Given the description of an element on the screen output the (x, y) to click on. 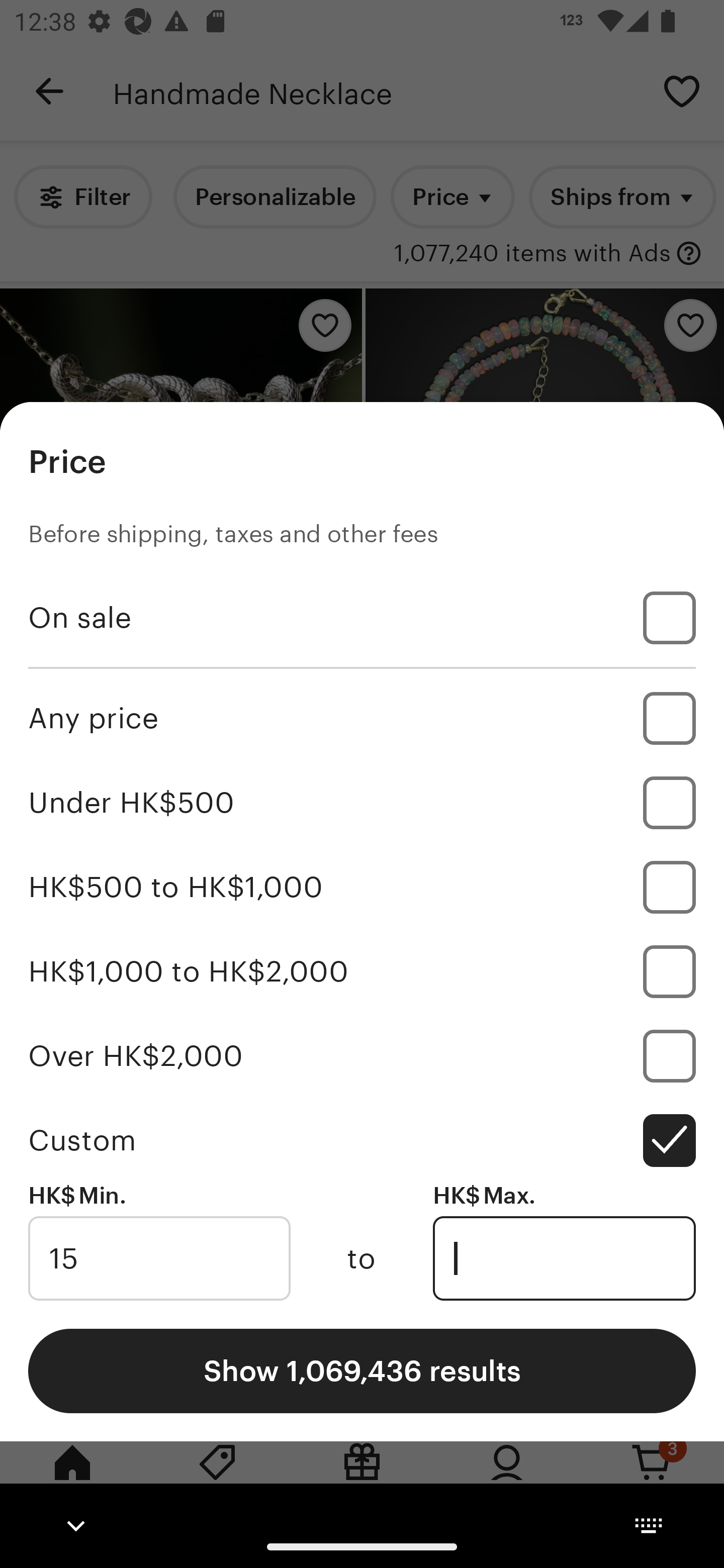
On sale (362, 617)
Any price (362, 717)
Under HK$500 (362, 802)
HK$500 to HK$1,000 (362, 887)
HK$1,000 to HK$2,000 (362, 970)
Over HK$2,000 (362, 1054)
Custom (362, 1139)
15 (159, 1257)
Show 1,069,436 results (361, 1370)
